Given the description of an element on the screen output the (x, y) to click on. 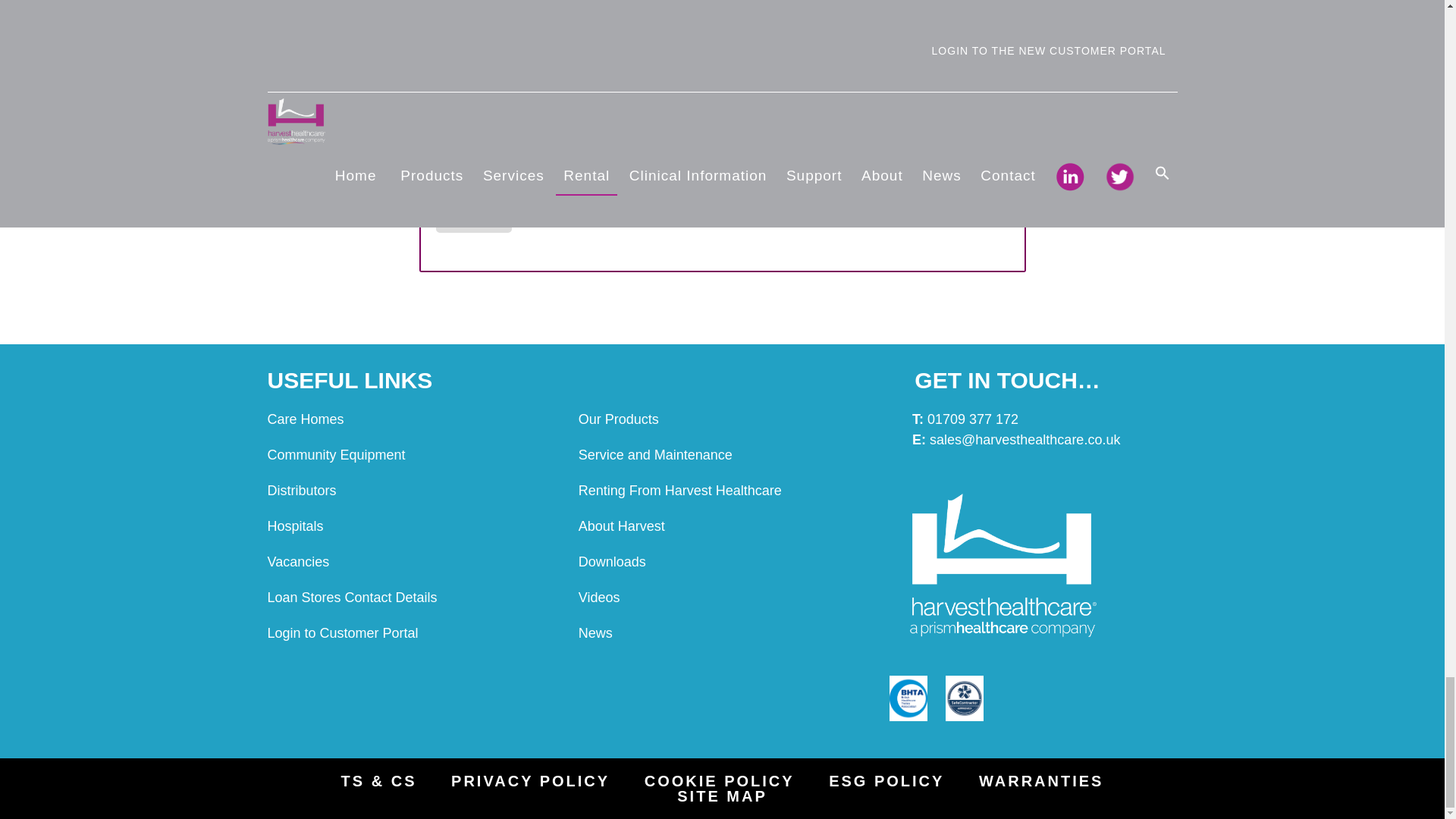
Send (473, 211)
